Given the description of an element on the screen output the (x, y) to click on. 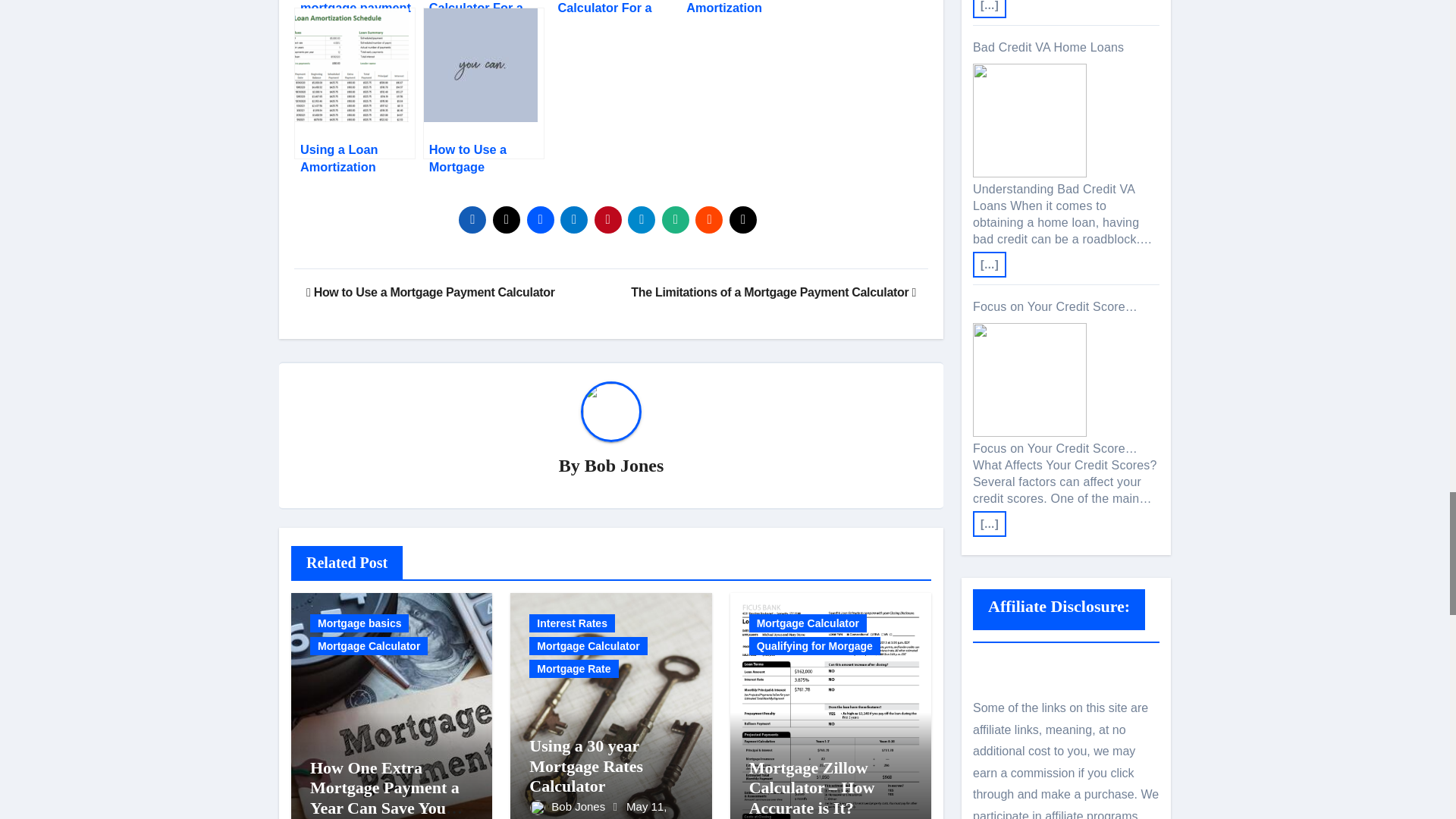
Permalink to: Using a 30 year Mortgage Rates Calculator (586, 765)
